Given the description of an element on the screen output the (x, y) to click on. 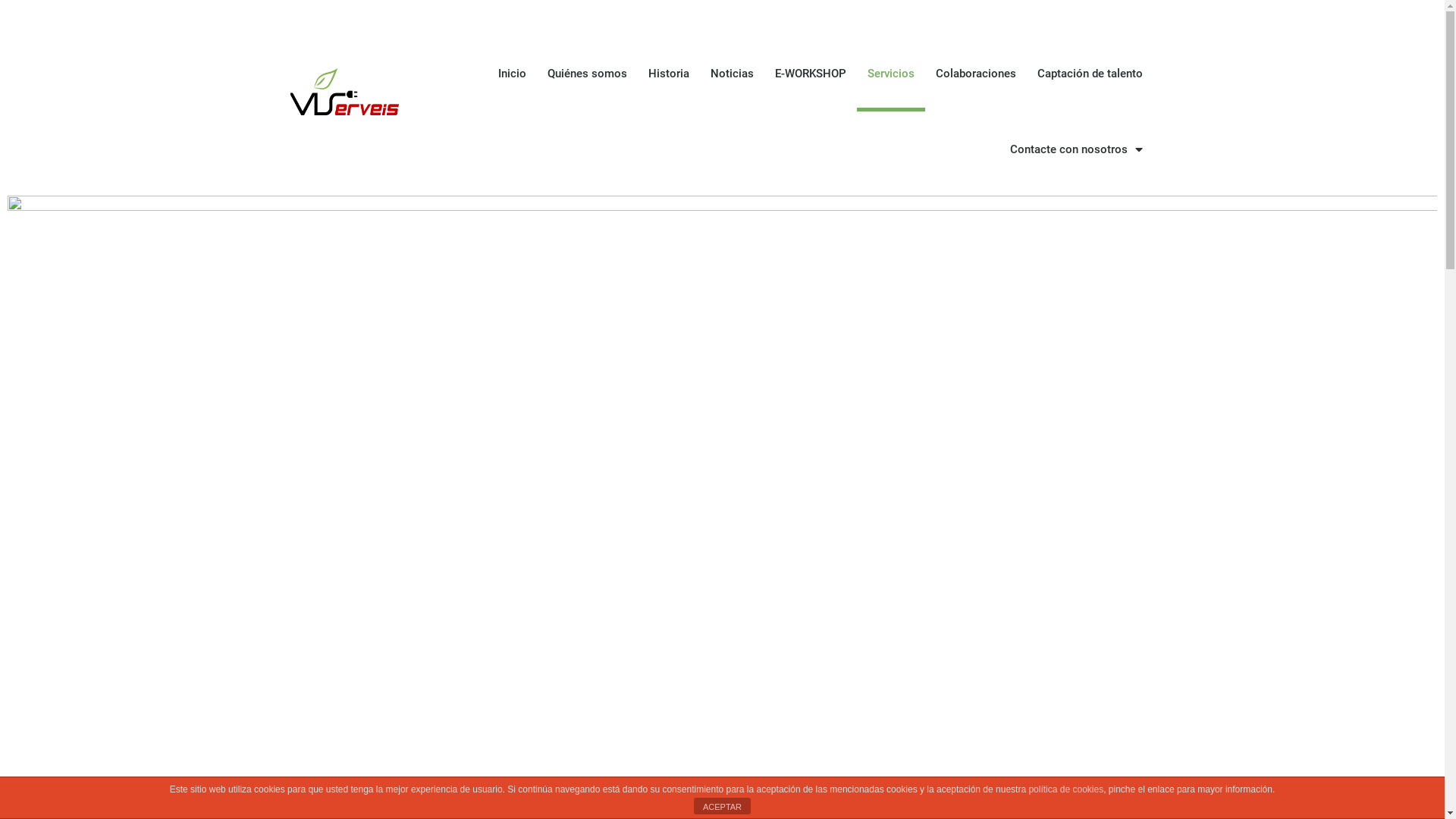
E-WORKSHOP Element type: text (810, 73)
Inicio Element type: text (511, 73)
ACEPTAR Element type: text (721, 805)
Servicios Element type: text (890, 73)
Historia Element type: text (668, 73)
Colaboraciones Element type: text (975, 73)
Contacte con nosotros Element type: text (1076, 149)
Noticias Element type: text (731, 73)
